Given the description of an element on the screen output the (x, y) to click on. 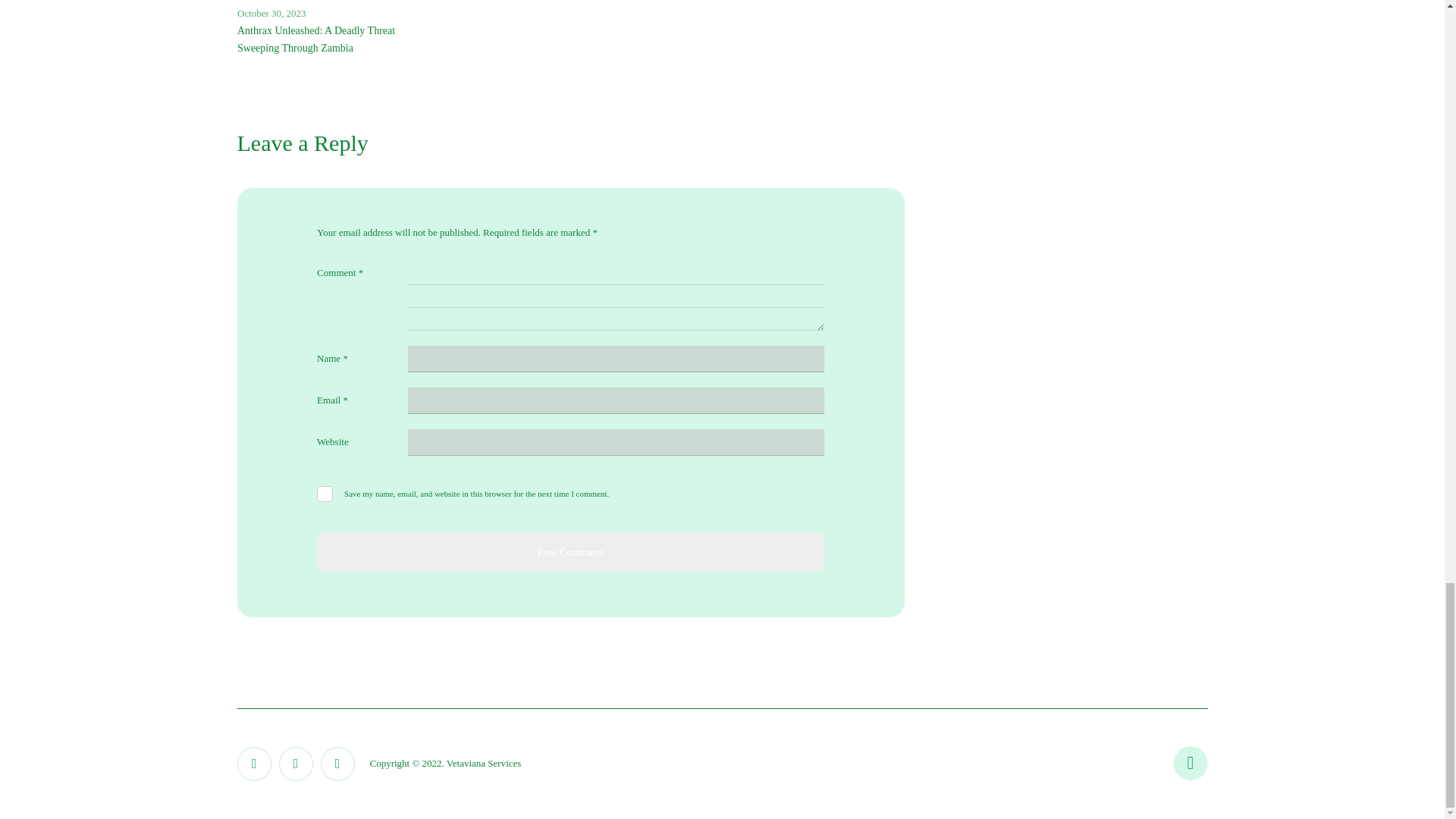
yes (325, 494)
Anthrax Unleashed: A Deadly Threat Sweeping Through Zambia (315, 39)
Post Comment (570, 551)
Post Comment (570, 551)
